Given the description of an element on the screen output the (x, y) to click on. 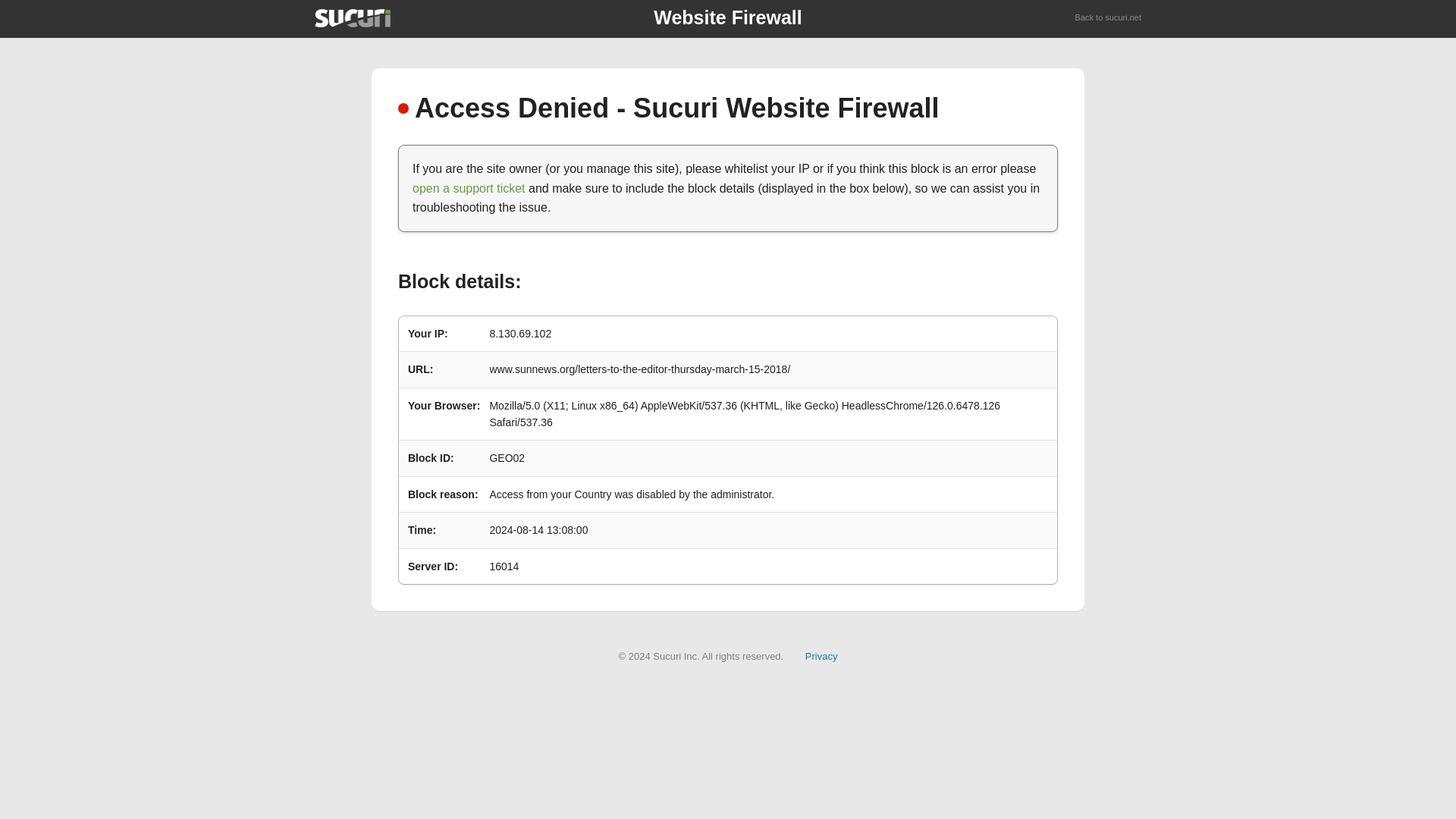
Back to sucuri.net (1108, 18)
open a support ticket (468, 187)
Privacy (821, 655)
